Given the description of an element on the screen output the (x, y) to click on. 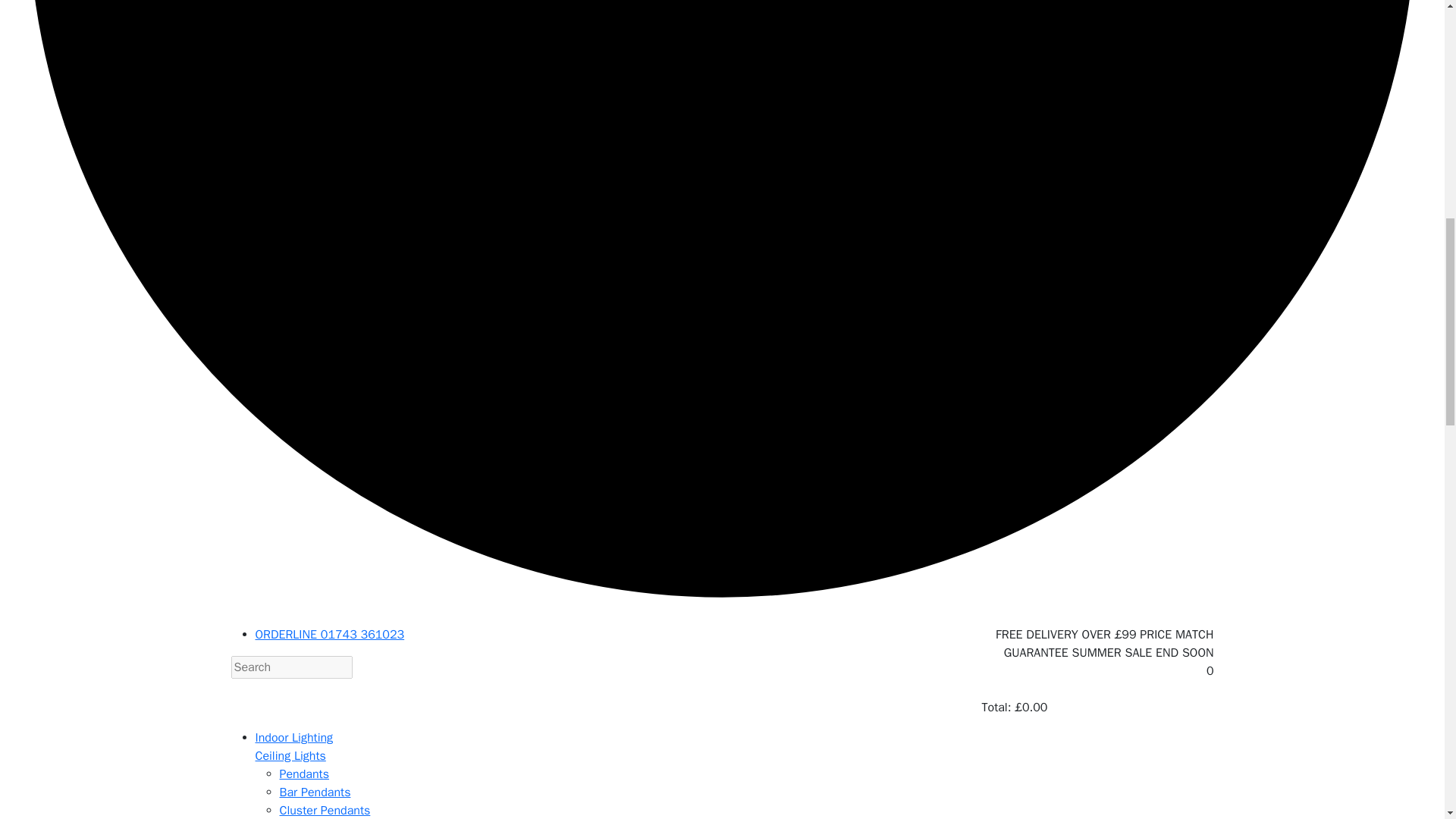
Pendants (304, 774)
Indoor Lighting (293, 737)
Ceiling Lights (289, 755)
Bar Pendants (314, 792)
Cluster Pendants (324, 810)
Indoor Lighting (293, 737)
Cluster Pendants (324, 810)
ORDERLINE 01743 361023 (329, 634)
Bar Pendants (314, 792)
Pendants (304, 774)
